Given the description of an element on the screen output the (x, y) to click on. 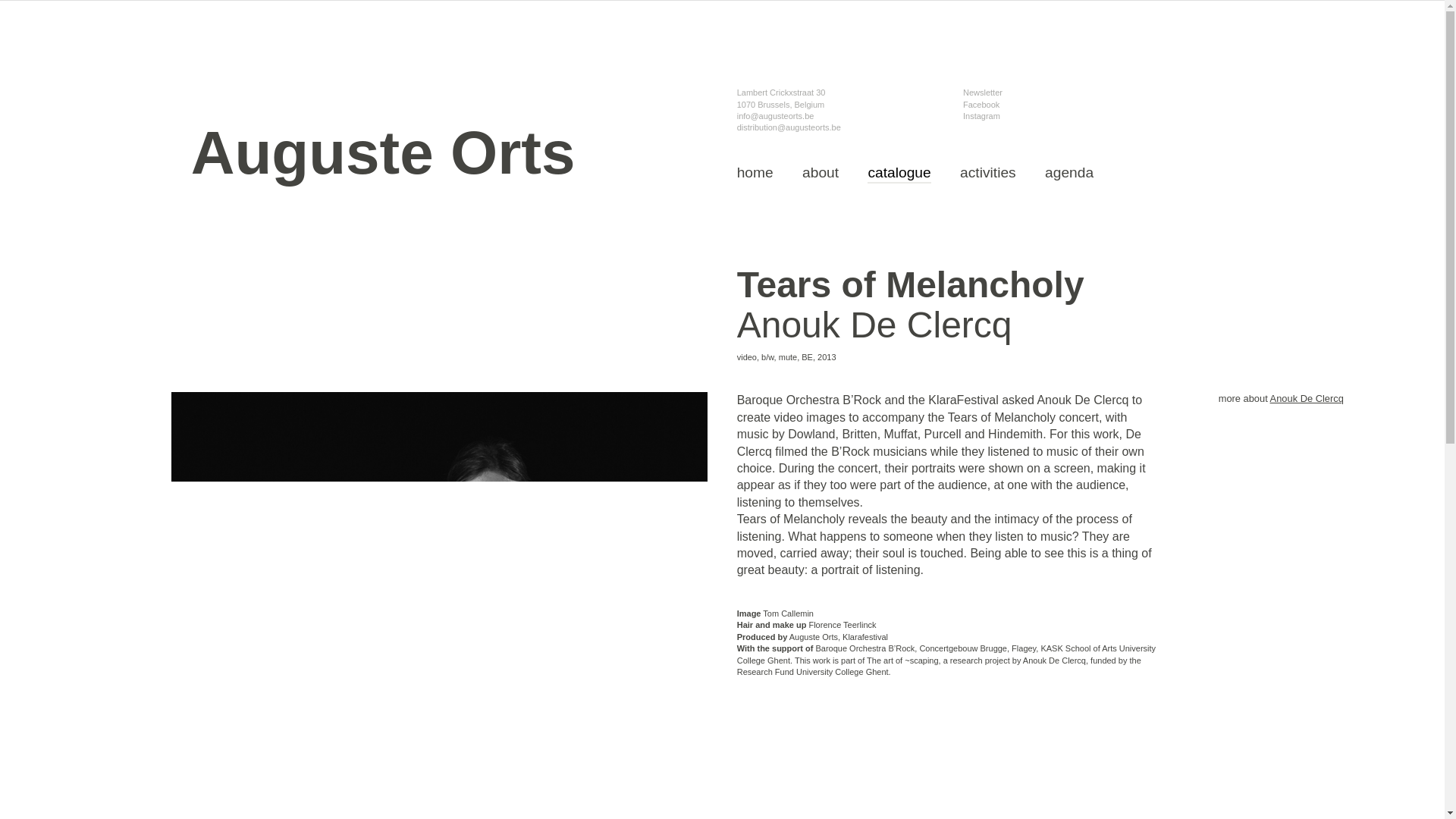
catalogue (898, 173)
home (754, 172)
Auguste Orts (382, 169)
about (820, 172)
Anouk De Clercq (1306, 398)
Facebook (980, 104)
Instagram (981, 116)
agenda (1069, 172)
Newsletter (982, 92)
activities (987, 172)
